Given the description of an element on the screen output the (x, y) to click on. 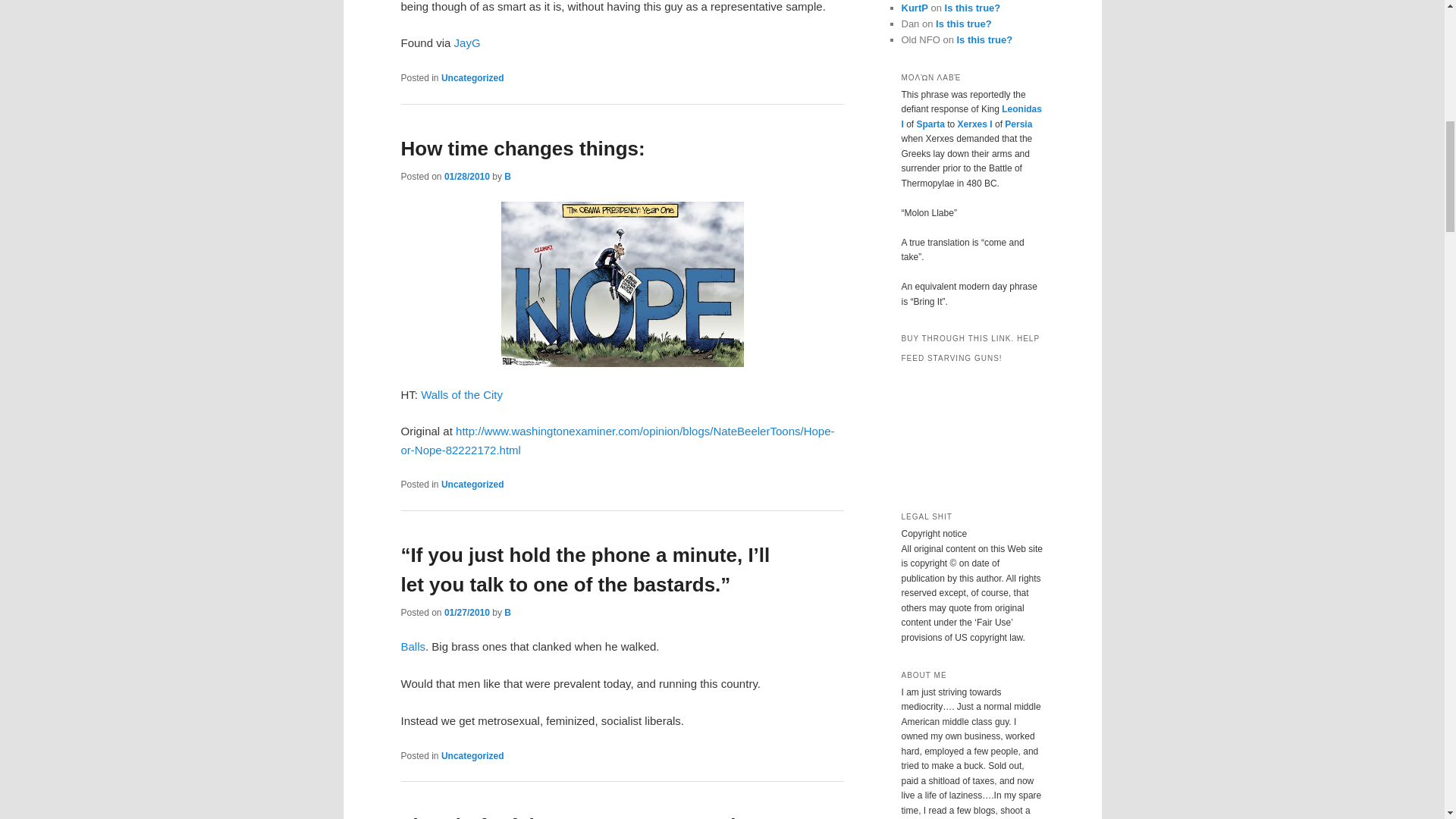
Uncategorized (472, 77)
How time changes things: (522, 148)
Walls of the City (461, 394)
Uncategorized (472, 484)
Uncategorized (472, 756)
Balls (412, 645)
First draft of the STFU SOTU speech: (574, 816)
18:28 (466, 612)
JayG (467, 42)
17:52 (466, 176)
